Given the description of an element on the screen output the (x, y) to click on. 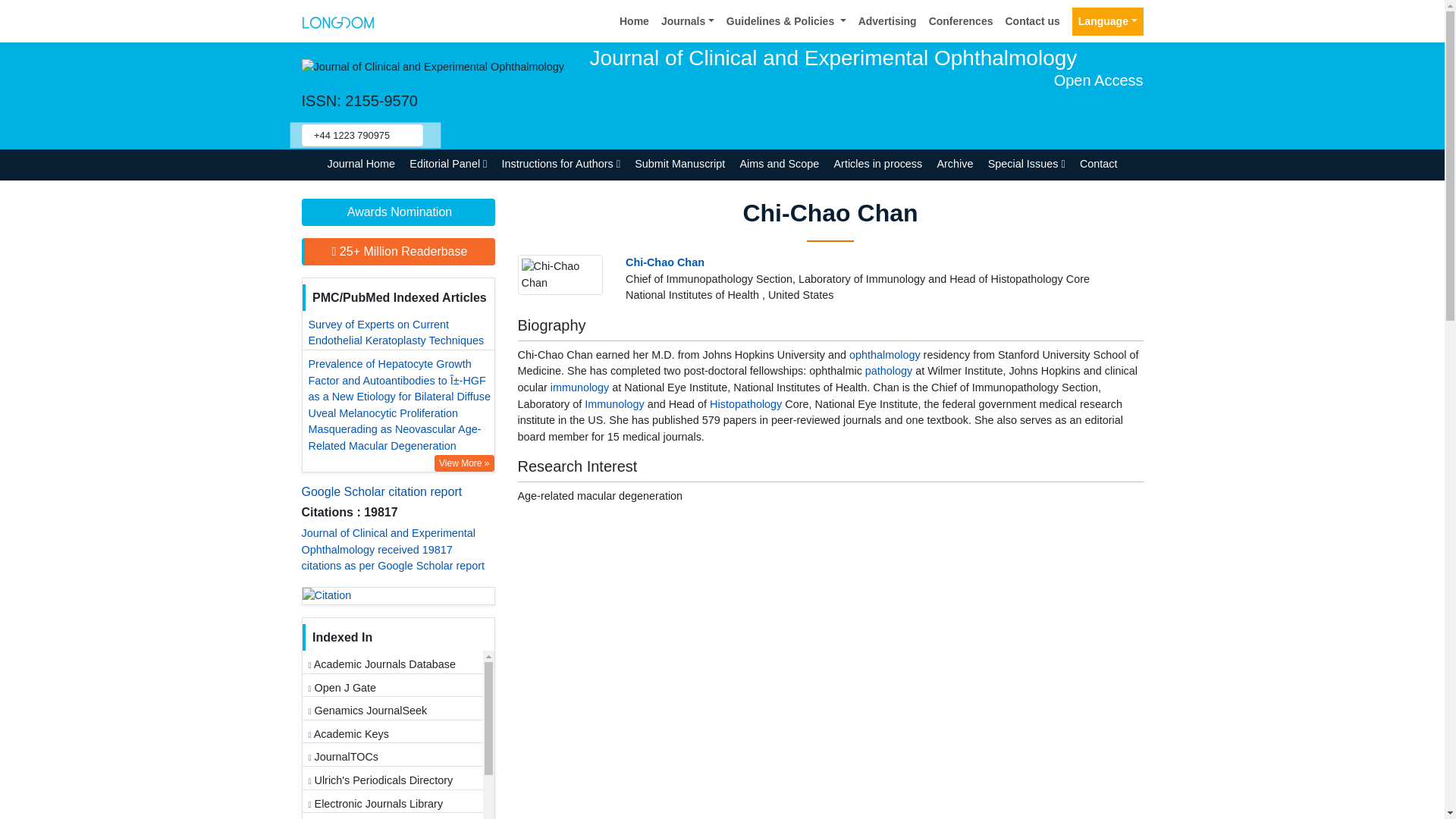
Conferences (960, 21)
Advertising (887, 21)
Articles in process (878, 164)
Advertising (887, 21)
Aims and Scope (779, 164)
Language (1106, 21)
Contact us (1031, 21)
Home (633, 21)
Submit Manuscript (679, 164)
Journal Home (361, 164)
